Given the description of an element on the screen output the (x, y) to click on. 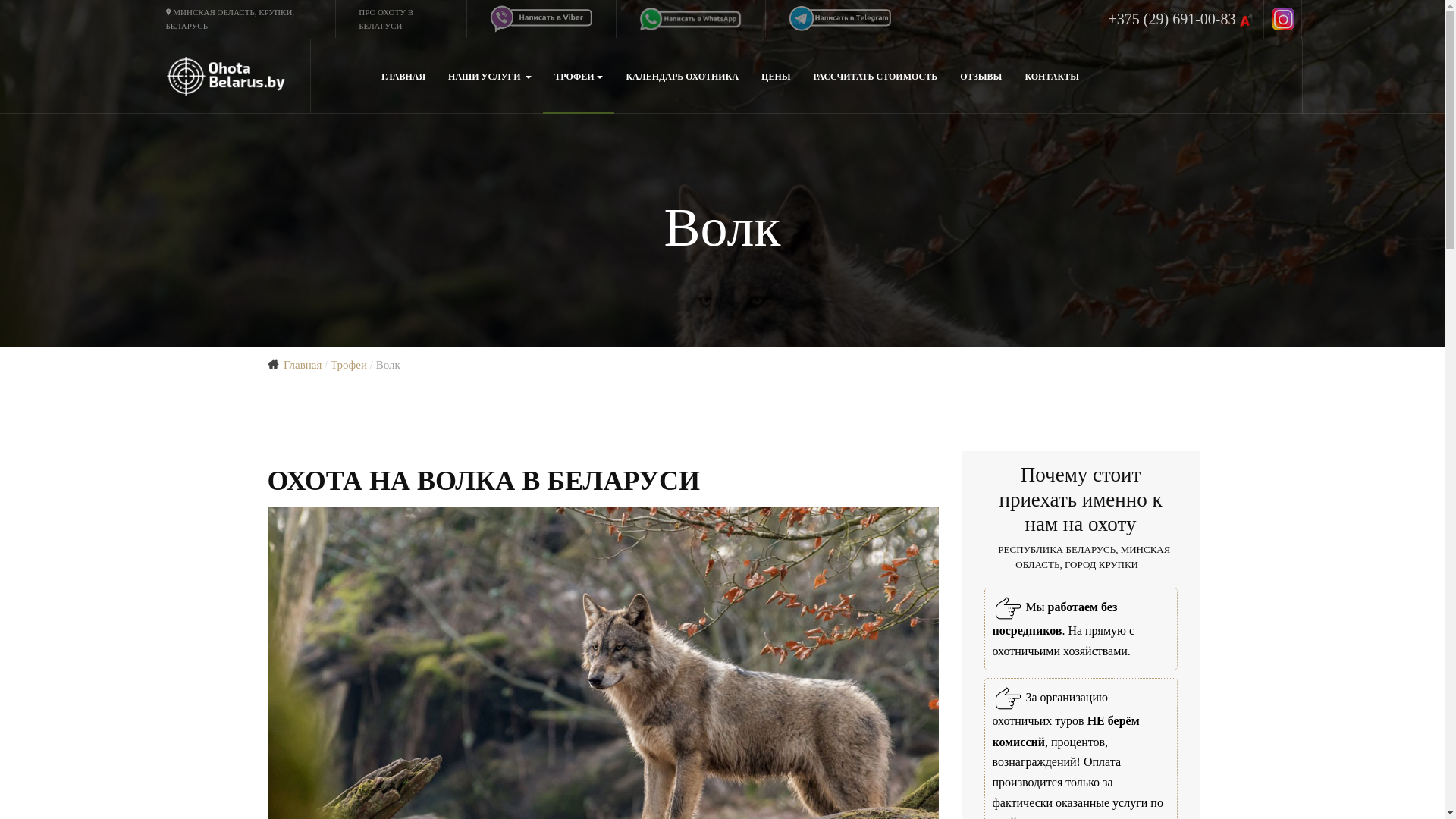
+375 (29) 691-00-83 Element type: text (1180, 19)
instagram Element type: hover (1283, 18)
OhotaBelarus.by Element type: hover (225, 75)
